Given the description of an element on the screen output the (x, y) to click on. 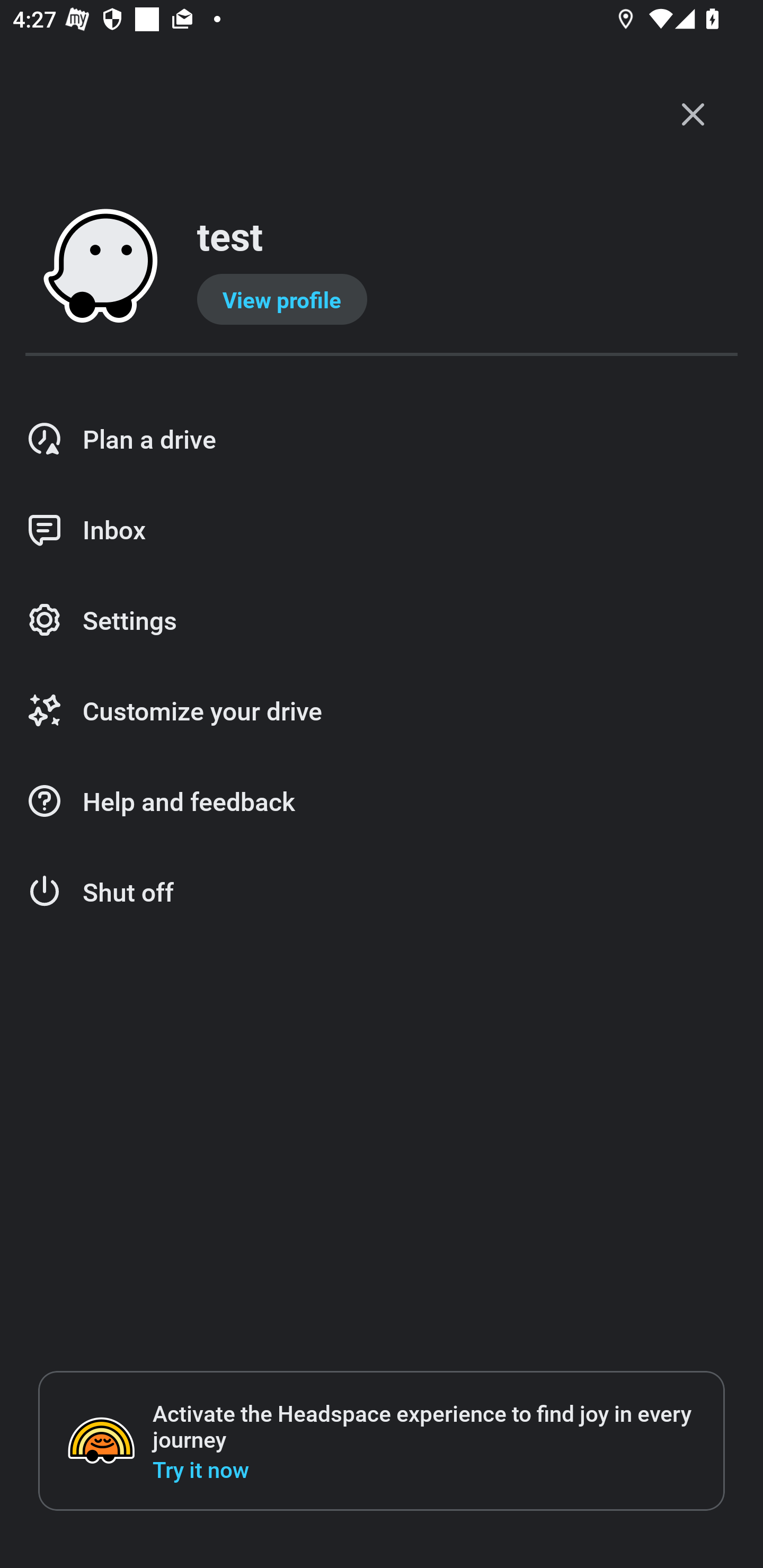
test View profile (381, 266)
View profile (281, 299)
ACTION_CELL_ICON Plan a drive ACTION_CELL_TEXT (381, 438)
ACTION_CELL_ICON Inbox ACTION_CELL_TEXT (381, 529)
ACTION_CELL_ICON Settings ACTION_CELL_TEXT (381, 620)
ACTION_CELL_ICON Shut off ACTION_CELL_TEXT (381, 891)
